Given the description of an element on the screen output the (x, y) to click on. 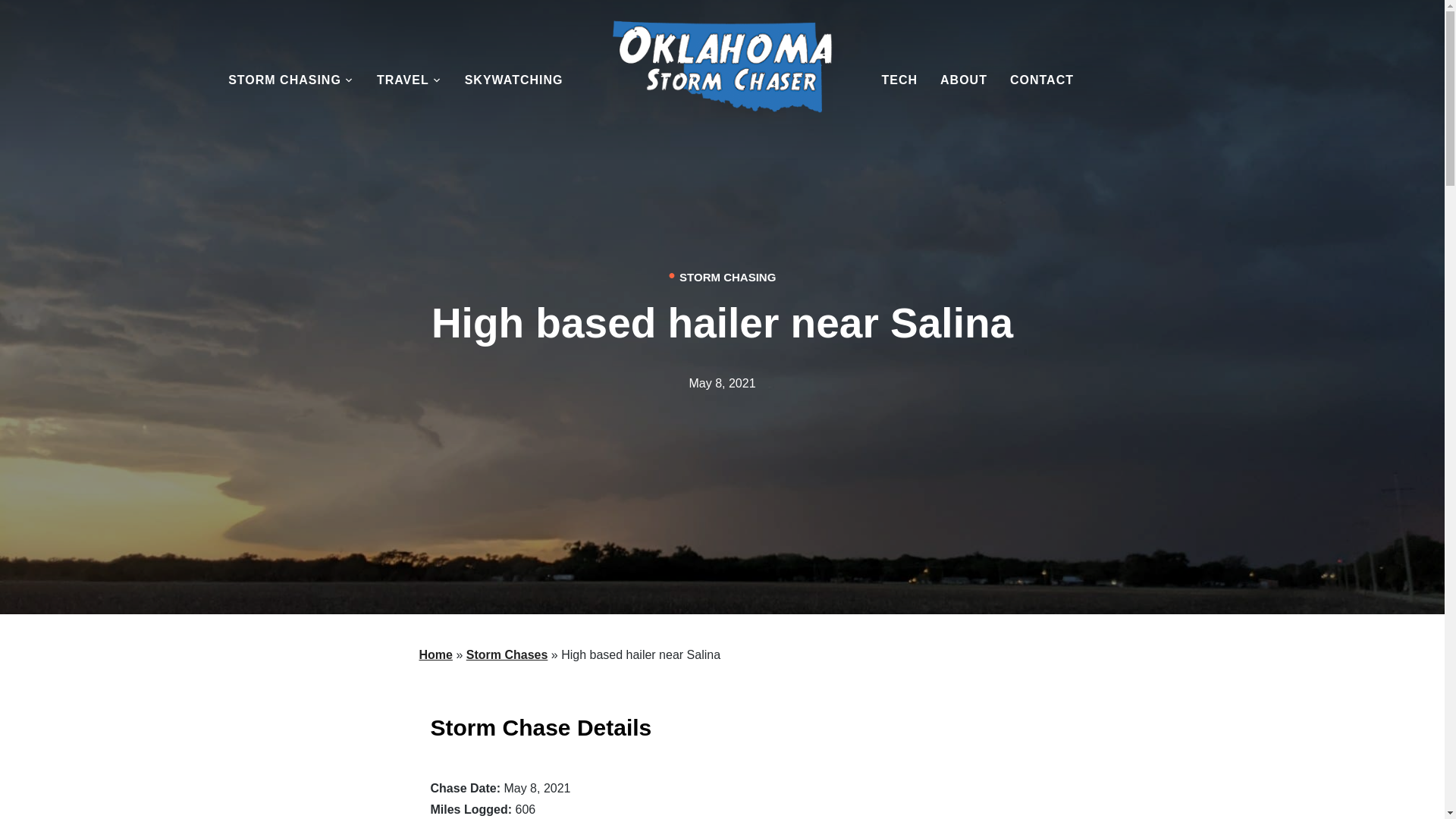
Oklahoma Storm Chaser Ben Holcomb (722, 73)
STORM CHASING (290, 80)
ABOUT (963, 80)
Home (435, 654)
SKYWATCHING (513, 80)
TRAVEL (409, 80)
CONTACT (1042, 80)
Storm Chases (506, 654)
TECH (898, 80)
